Given the description of an element on the screen output the (x, y) to click on. 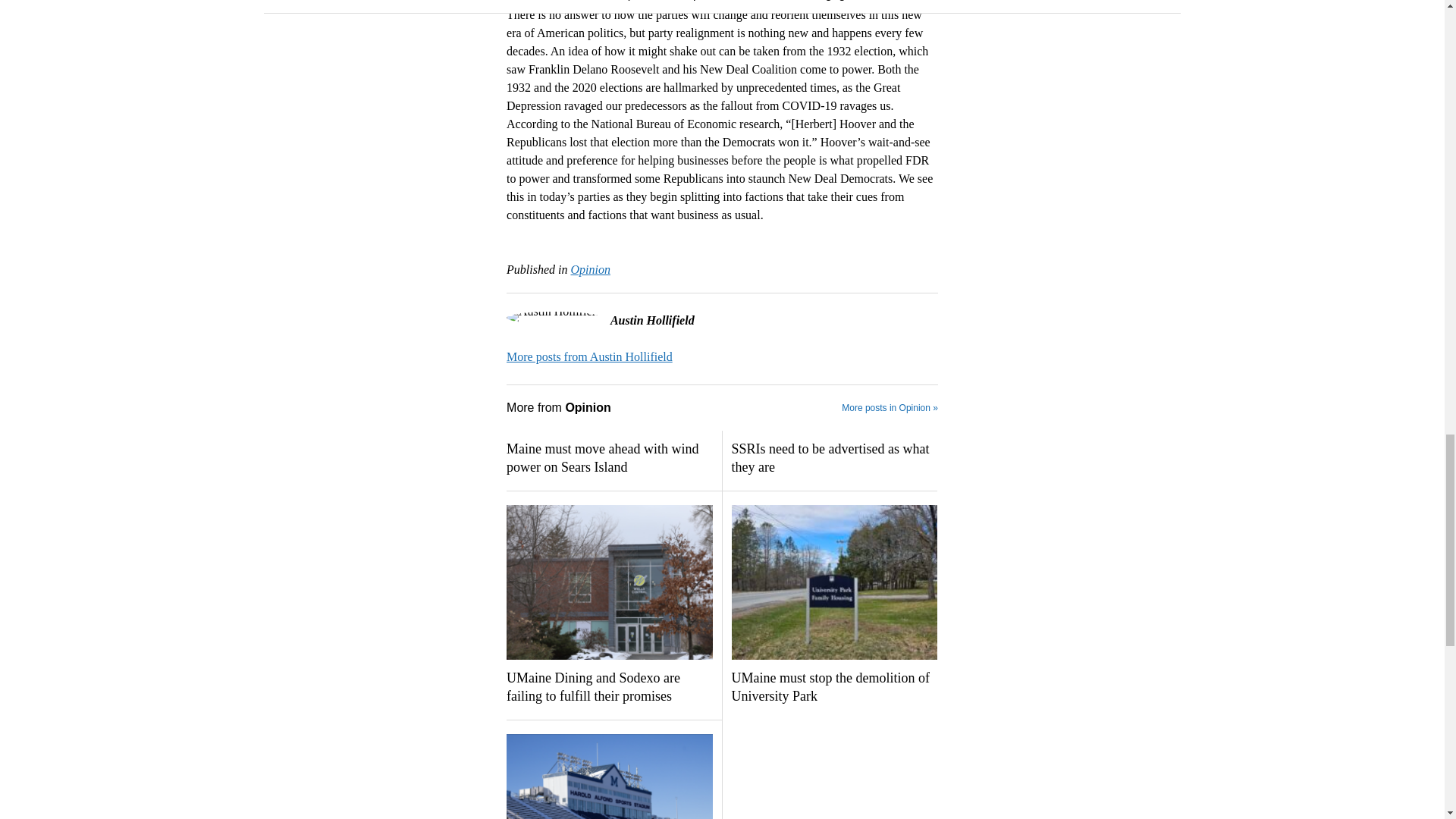
View all posts in Opinion (590, 269)
Austin Hollifield (589, 356)
